Given the description of an element on the screen output the (x, y) to click on. 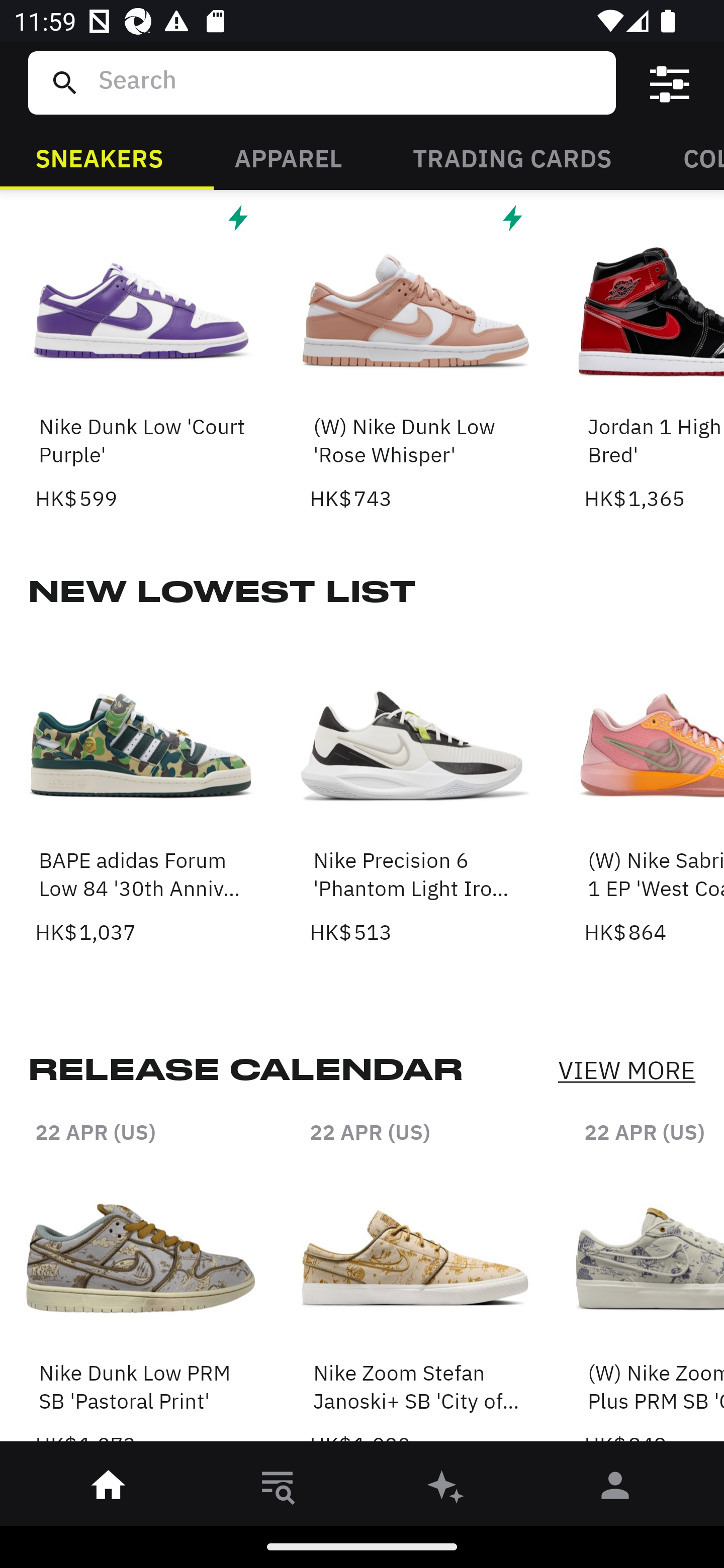
Search (349, 82)
 (669, 82)
SNEAKERS (99, 156)
APPAREL (287, 156)
TRADING CARDS (512, 156)
 Nike Dunk Low 'Court Purple' HK$ 599 (140, 356)
 (W) Nike Dunk Low 'Rose Whisper' HK$ 743 (414, 356)
Jordan 1 High 'Patent Bred' HK$ 1,365 (654, 356)
Nike Precision 6 'Phantom Light Iron Ore' HK$ 513 (414, 789)
(W) Nike Sabrina 1 EP 'West Coast Roots' HK$ 864 (654, 789)
VIEW MORE (626, 1070)
󰋜 (108, 1488)
󱎸 (277, 1488)
󰫢 (446, 1488)
󰀄 (615, 1488)
